Given the description of an element on the screen output the (x, y) to click on. 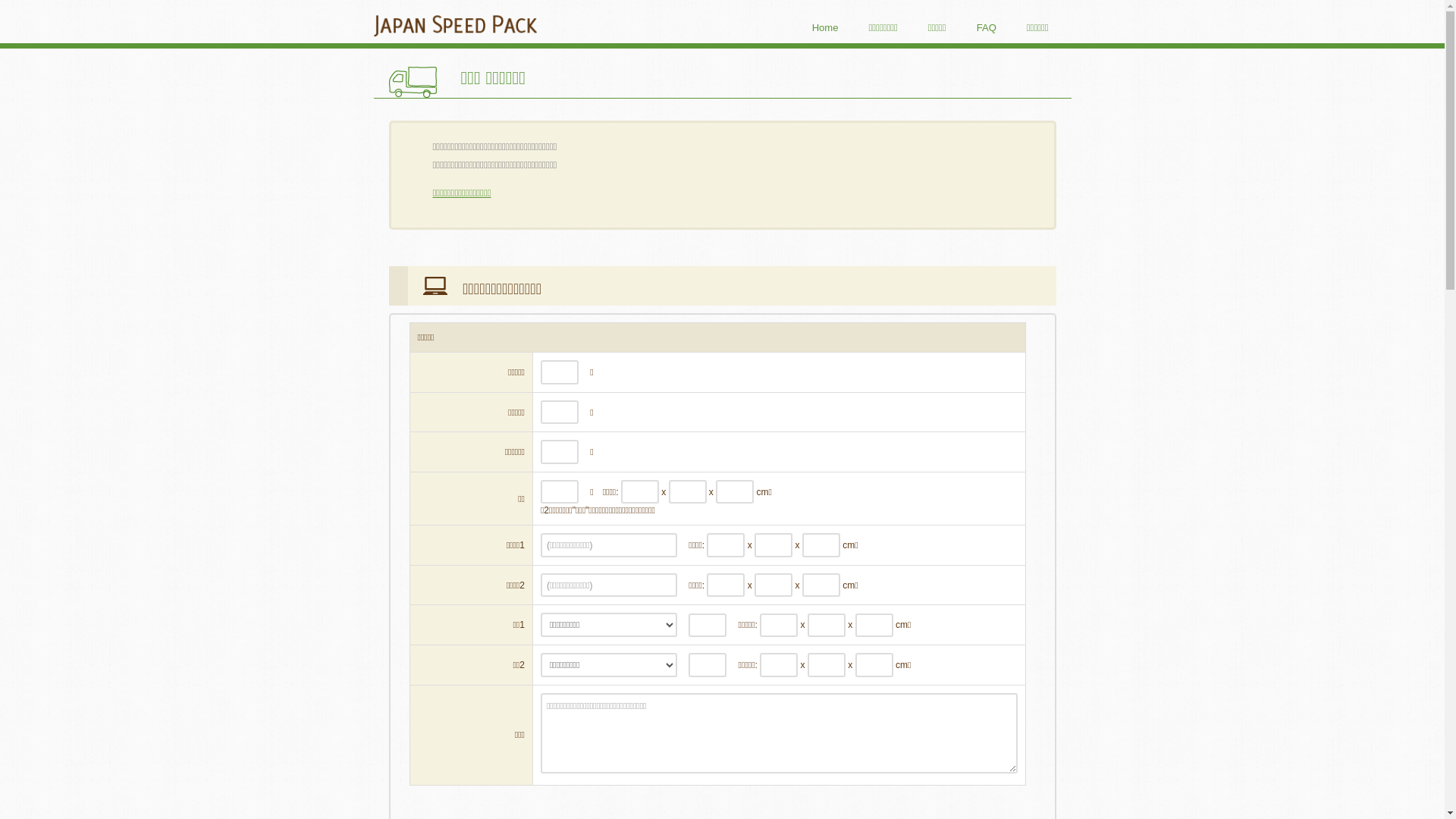
FAQ Element type: text (986, 27)
Home Element type: text (825, 27)
